Given the description of an element on the screen output the (x, y) to click on. 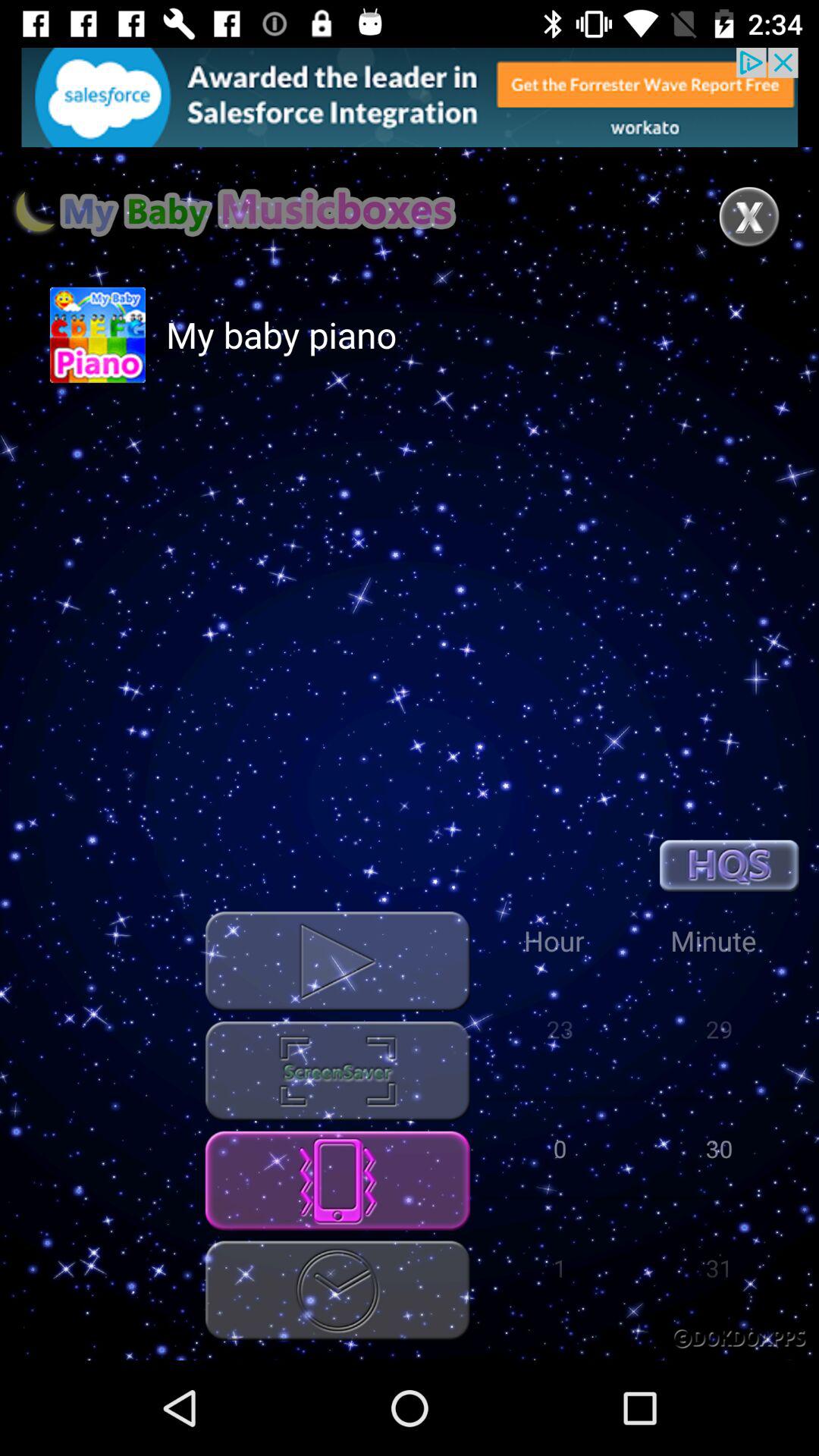
click on the clock symbol button (337, 1290)
select 0 which is below hour on page (559, 1148)
select the button above mobile symbol (337, 1071)
select the phone option which is below the screensaver (337, 1180)
select 1 line text which is above my baby piano on the page (233, 212)
